Given the description of an element on the screen output the (x, y) to click on. 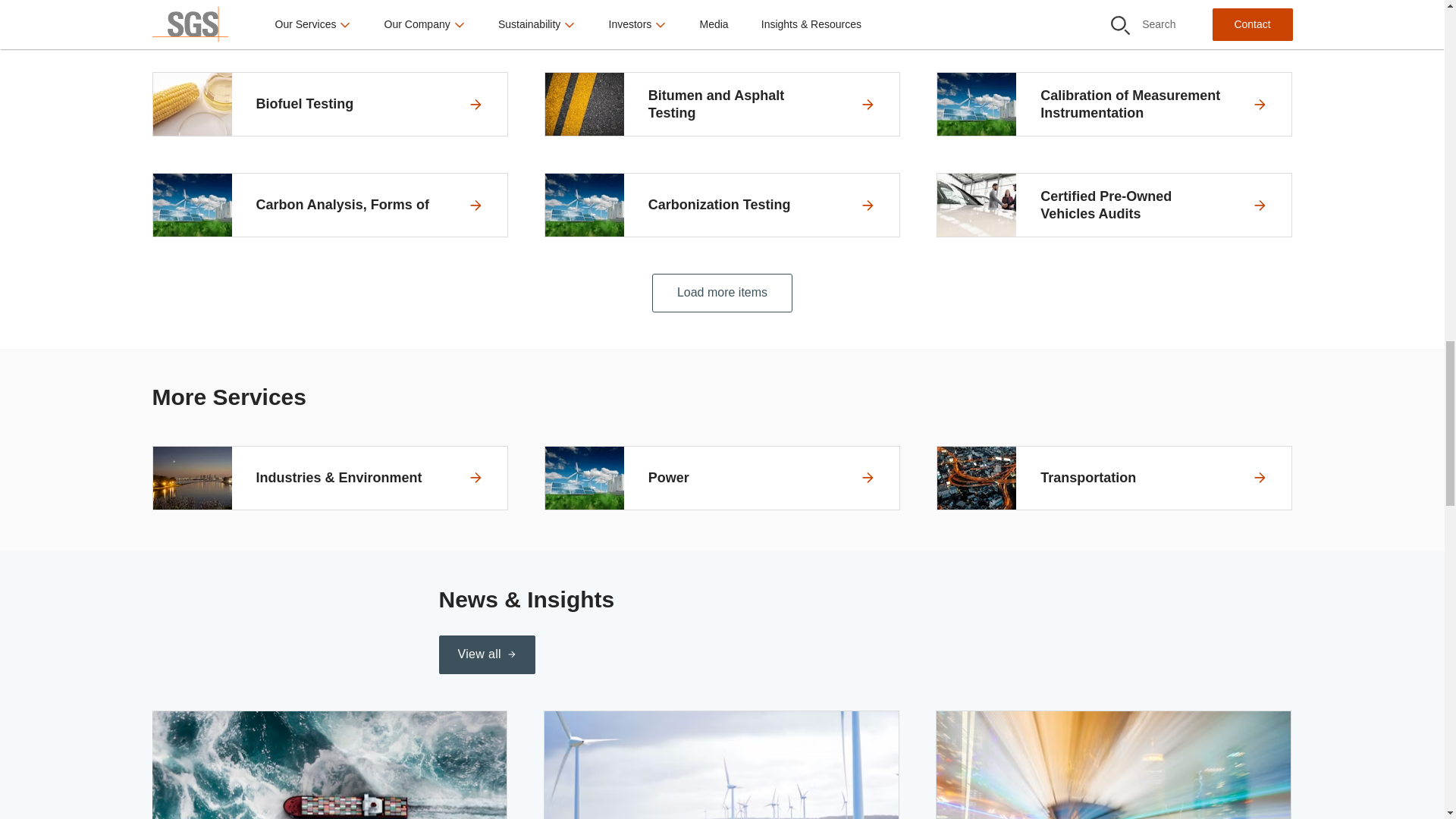
Load more items (722, 292)
Certified Pre-Owned Vehicles Audits (1114, 204)
Transportation (1114, 477)
Bitumen and Asphalt Testing (721, 103)
Carbonization Testing (721, 204)
View all (486, 654)
Auger and Lance Sampling (1114, 17)
Air Freight Packaging and Dangerous Goods Dispatch (329, 17)
Calibration of Measurement Instrumentation (1114, 103)
Power (721, 477)
Ash Analysis (721, 17)
Carbon Analysis, Forms of (329, 204)
Biofuel Testing (329, 103)
